Given the description of an element on the screen output the (x, y) to click on. 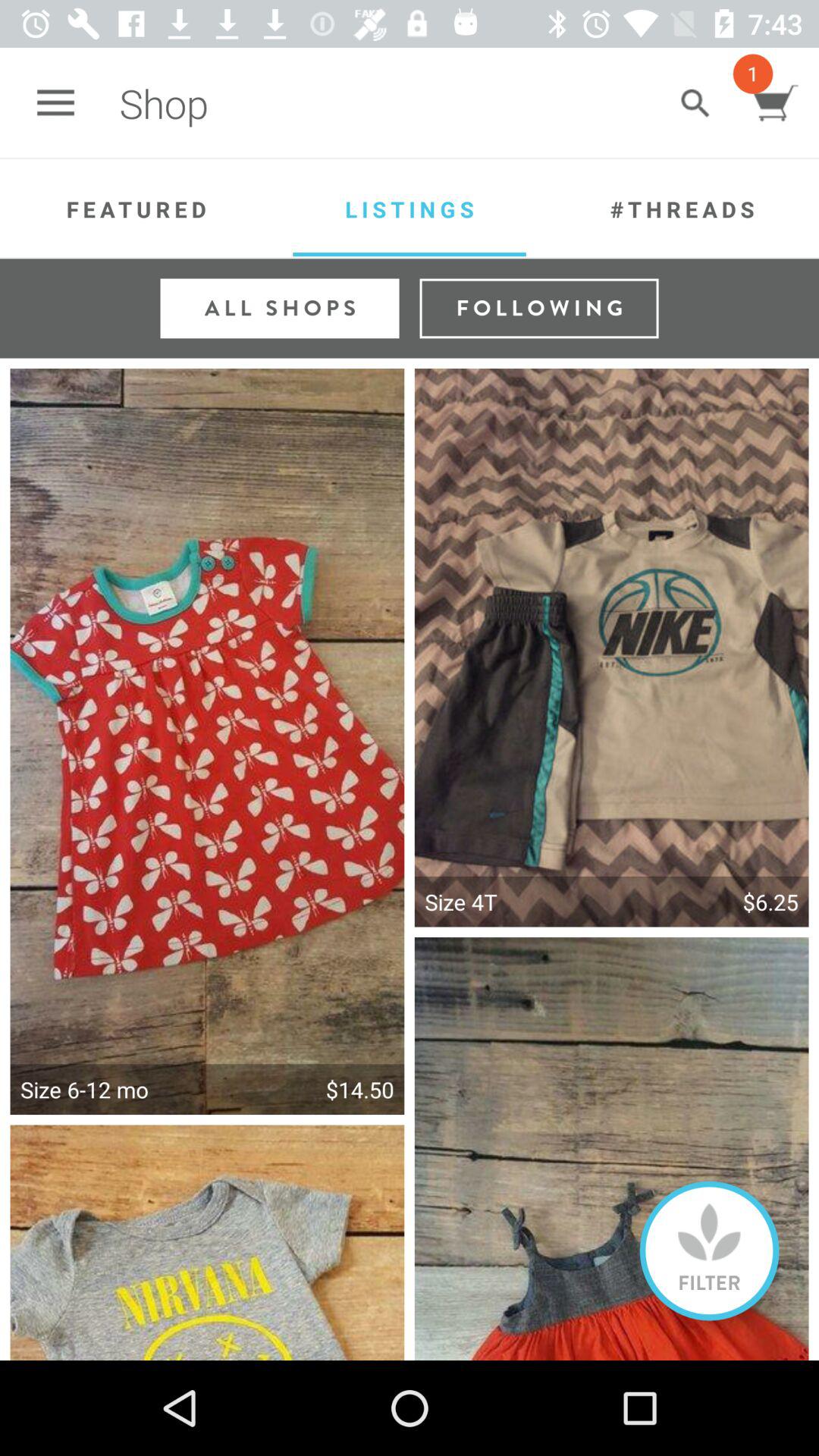
click to search option (695, 103)
